Given the description of an element on the screen output the (x, y) to click on. 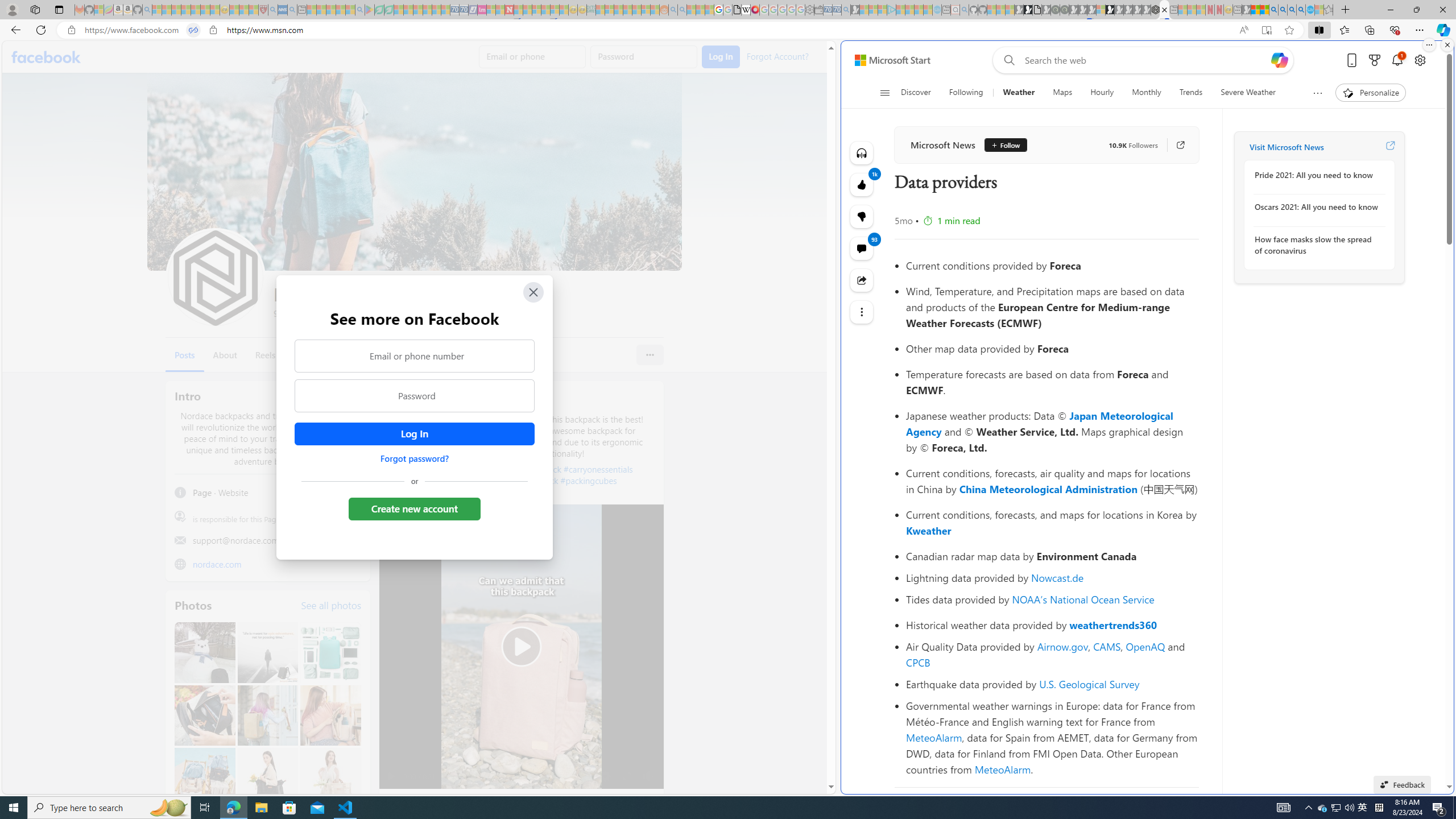
Show more topics (1316, 92)
Play Zoo Boom in your browser | Games from Microsoft Start (1027, 9)
Password (414, 395)
Maps (1062, 92)
Trusted Community Engagement and Contributions | Guidelines (518, 9)
NCL Adult Asthma Inhaler Choice Guideline - Sleeping (282, 9)
Bing AI - Search (1272, 9)
Open settings (1420, 60)
Terms of Use Agreement - Sleeping (378, 9)
Close tab (1163, 9)
